Given the description of an element on the screen output the (x, y) to click on. 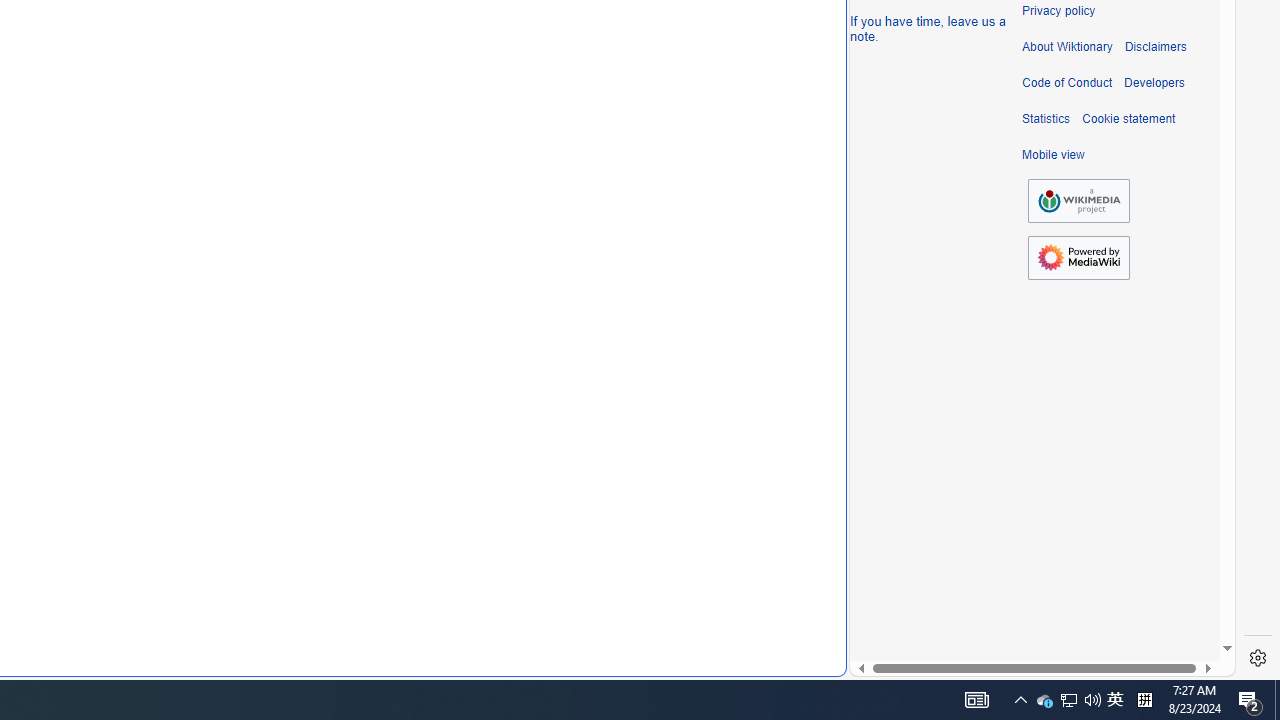
Mobile view (1053, 155)
Developers (1154, 83)
Statistics (1046, 119)
If you have time, leave us a note. (927, 27)
Code of Conduct (1067, 83)
AutomationID: footer-copyrightico (1078, 200)
Mobile view (1053, 155)
Cookie statement (1128, 119)
Statistics (1046, 119)
